Given the description of an element on the screen output the (x, y) to click on. 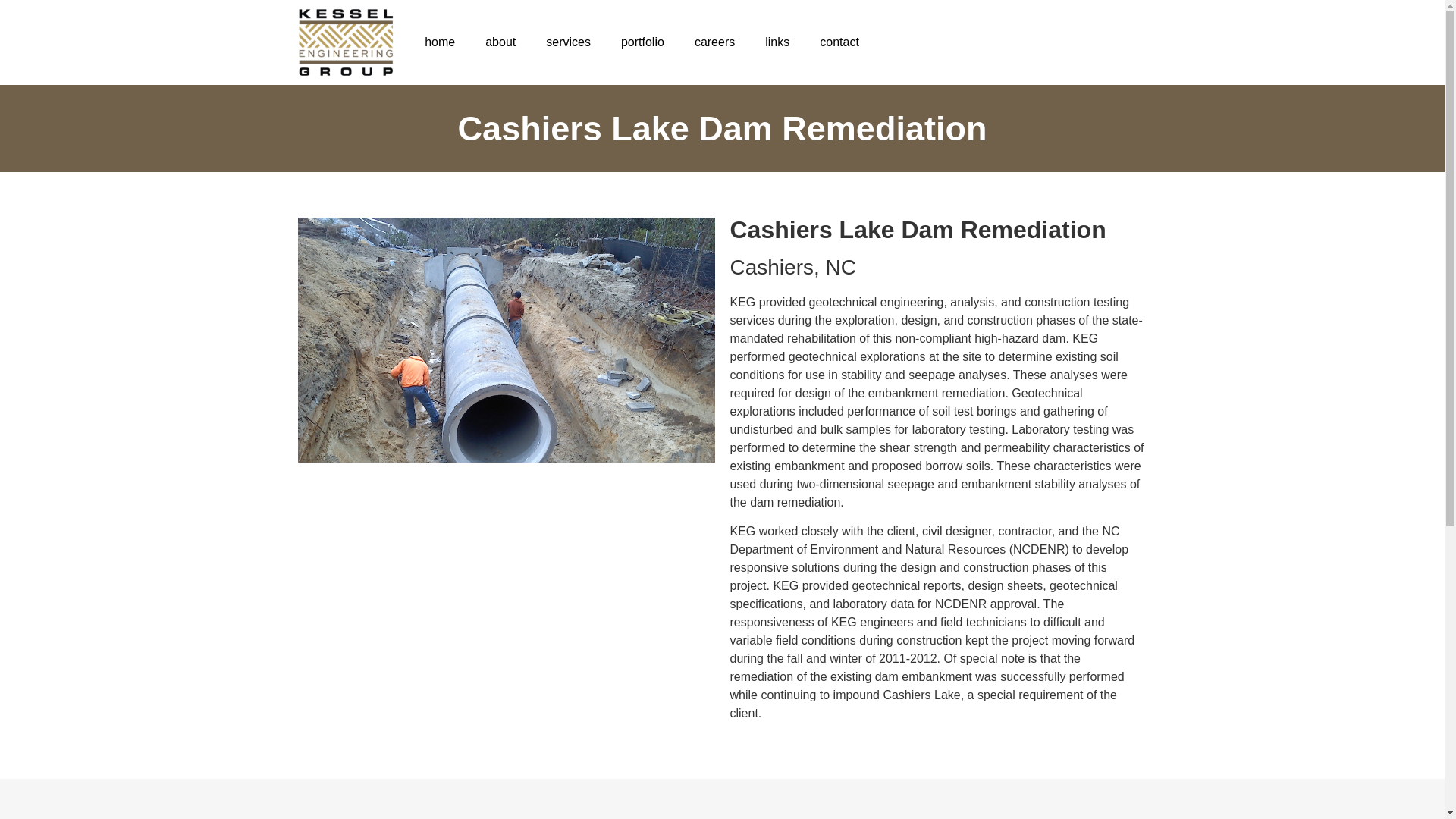
links (777, 42)
contact (840, 42)
services (568, 42)
home (439, 42)
careers (714, 42)
portfolio (642, 42)
about (500, 42)
